Given the description of an element on the screen output the (x, y) to click on. 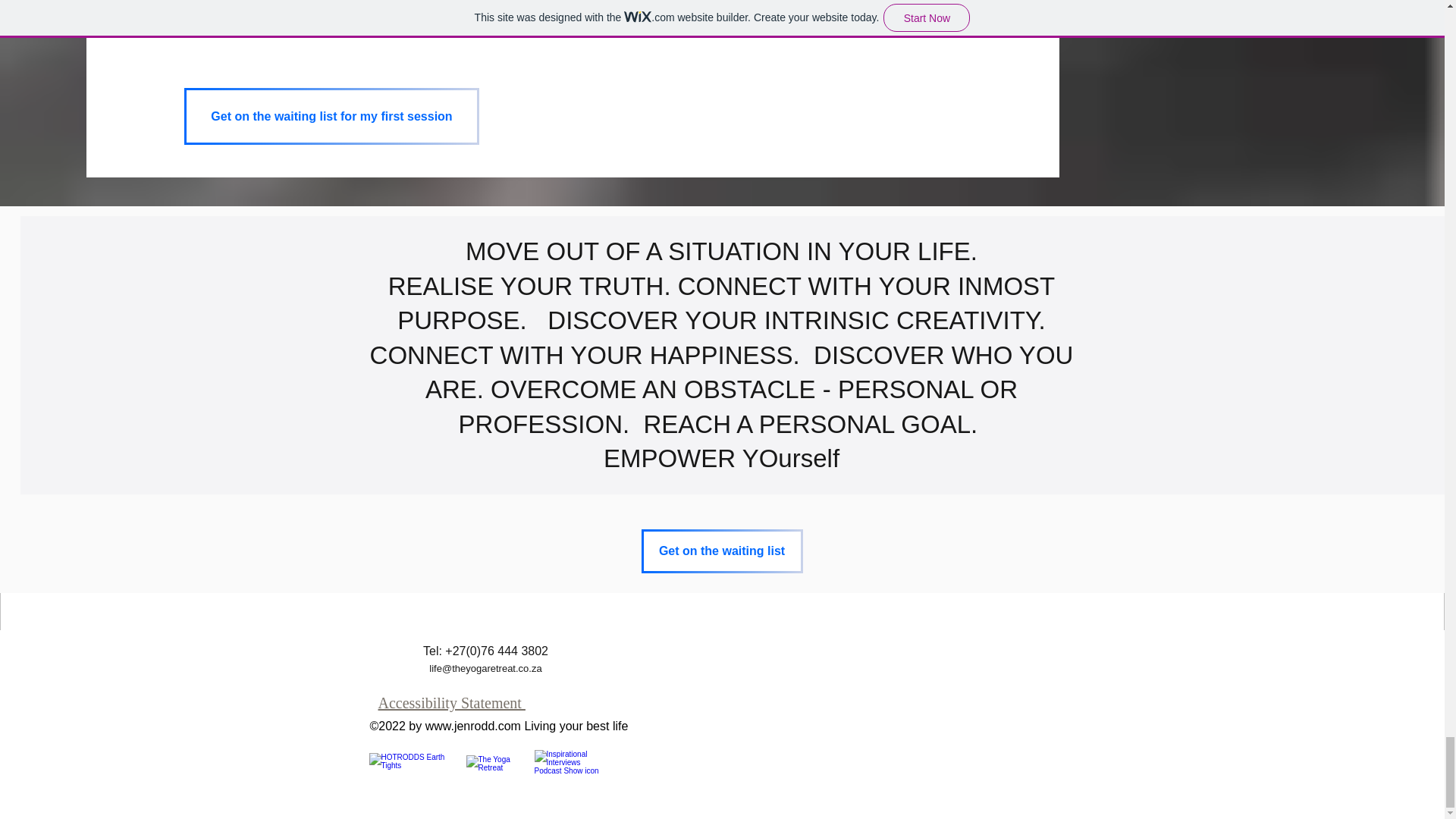
Accessibility Statement  (450, 702)
www.jenrodd.com (473, 725)
Get on the waiting list for my first session (331, 115)
Get on the waiting list (722, 551)
